Given the description of an element on the screen output the (x, y) to click on. 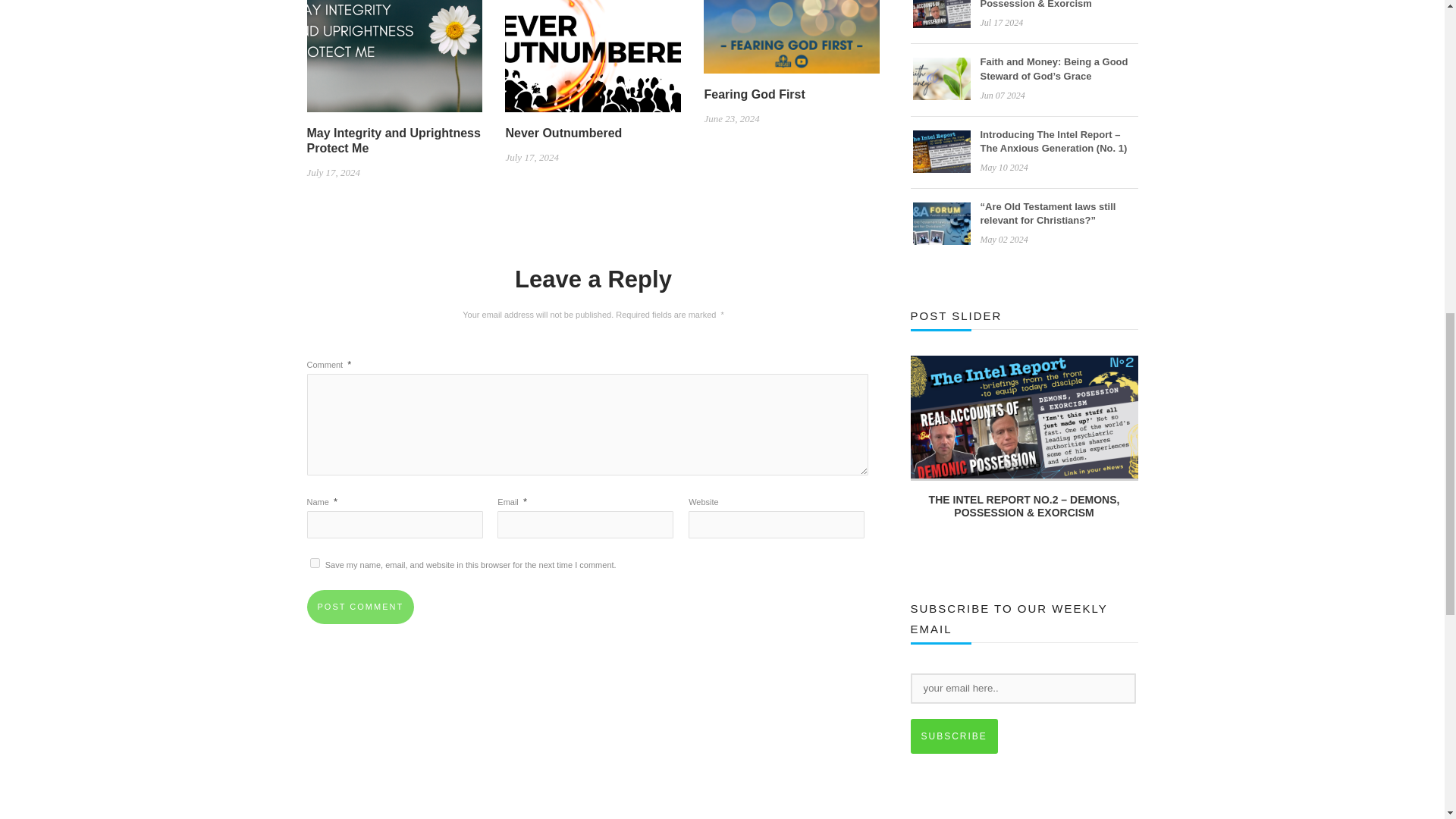
Fearing God First (791, 29)
Never Outnumbered (593, 49)
May Integrity and Uprightness Protect Me (393, 49)
Post Comment (359, 606)
yes (313, 562)
